Given the description of an element on the screen output the (x, y) to click on. 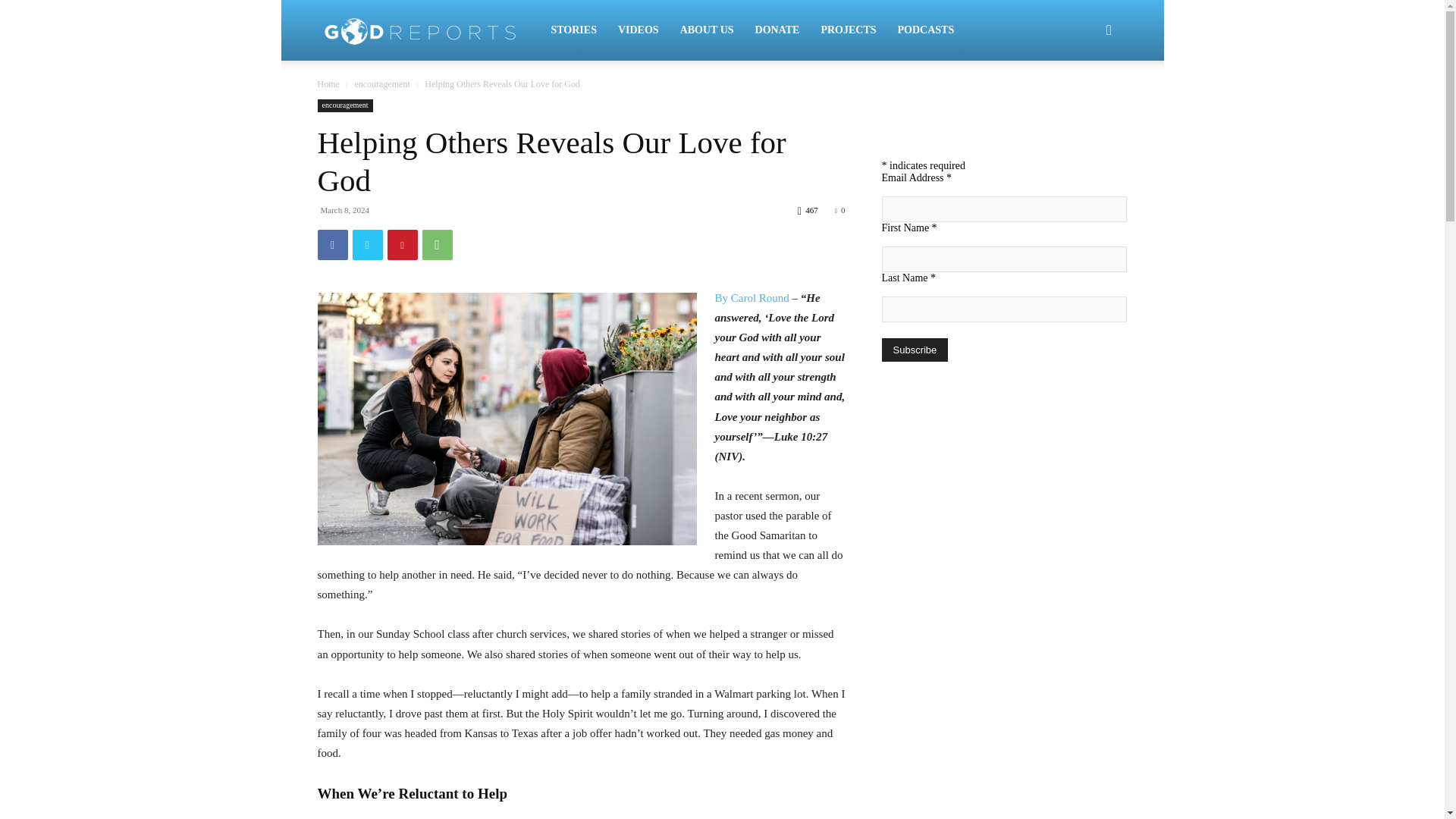
PODCASTS (925, 30)
DONATE (777, 30)
By Carol Round (751, 297)
Home (328, 83)
encouragement (344, 105)
Facebook (332, 245)
ABOUT US (706, 30)
View all posts in encouragement (381, 83)
WhatsApp (436, 245)
STORIES (573, 30)
Pinterest (401, 245)
Twitter (366, 245)
PROJECTS (847, 30)
VIDEOS (638, 30)
God Reports (428, 30)
